Given the description of an element on the screen output the (x, y) to click on. 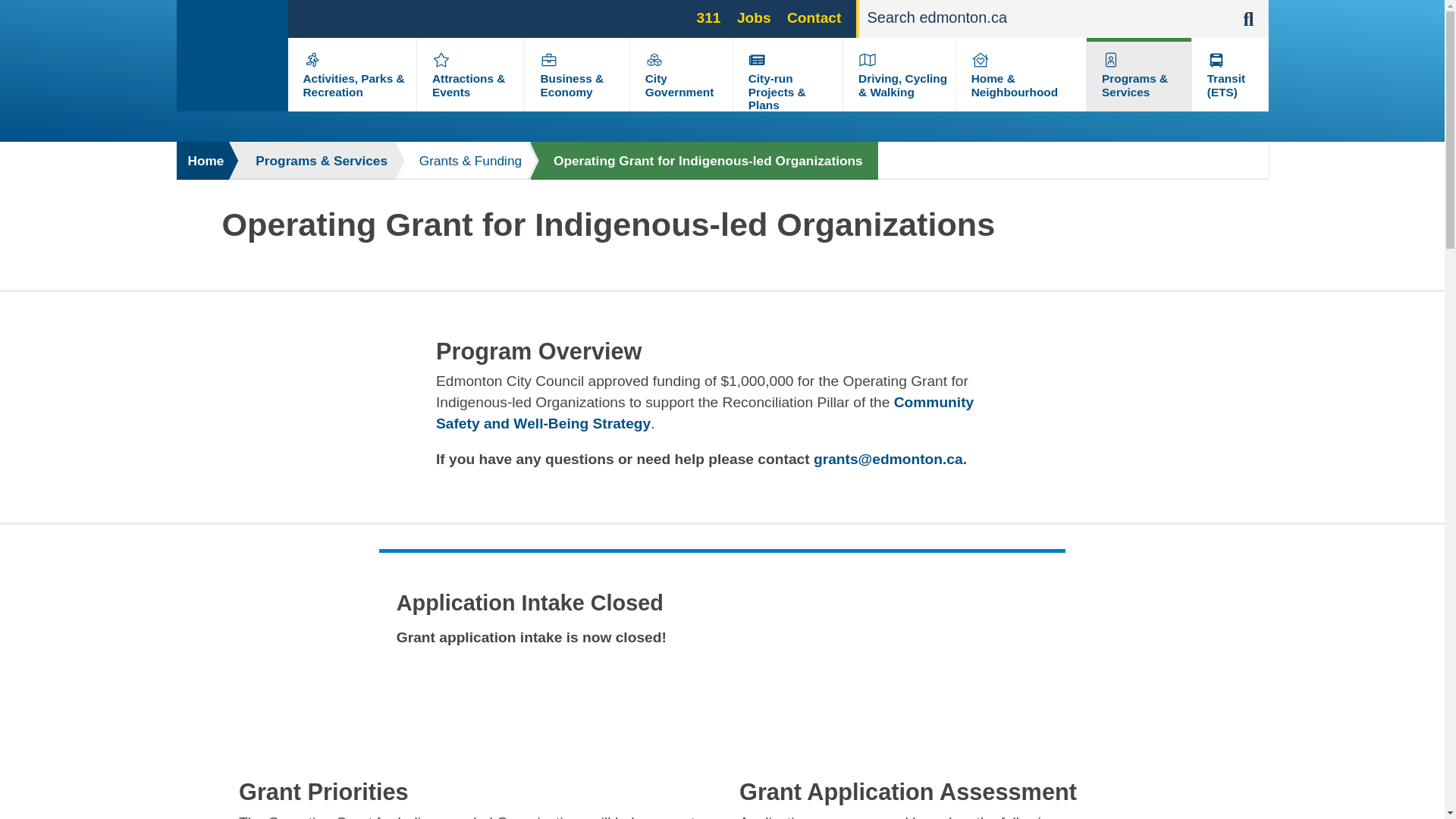
Contact (814, 17)
Jobs (753, 17)
Home (203, 160)
Operating Grant for Indigenous-led Organizations (704, 160)
Community Safety and Well-Being Strategy (704, 412)
311 (708, 17)
City Government (679, 85)
